Given the description of an element on the screen output the (x, y) to click on. 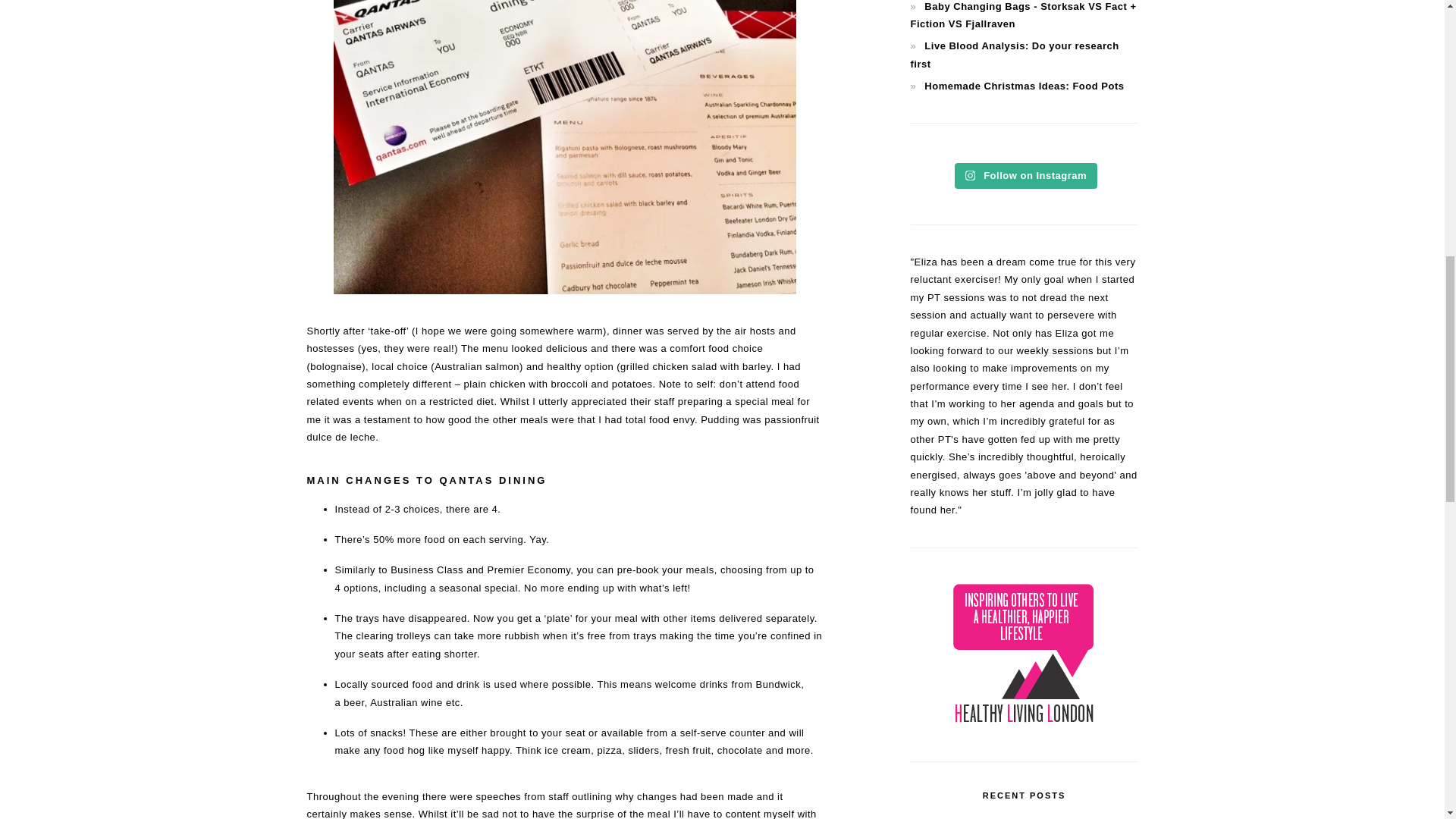
Follow on Instagram (1026, 175)
Homemade Christmas Ideas: Food Pots (1024, 85)
Live Blood Analysis: Do your research first (1014, 54)
